Given the description of an element on the screen output the (x, y) to click on. 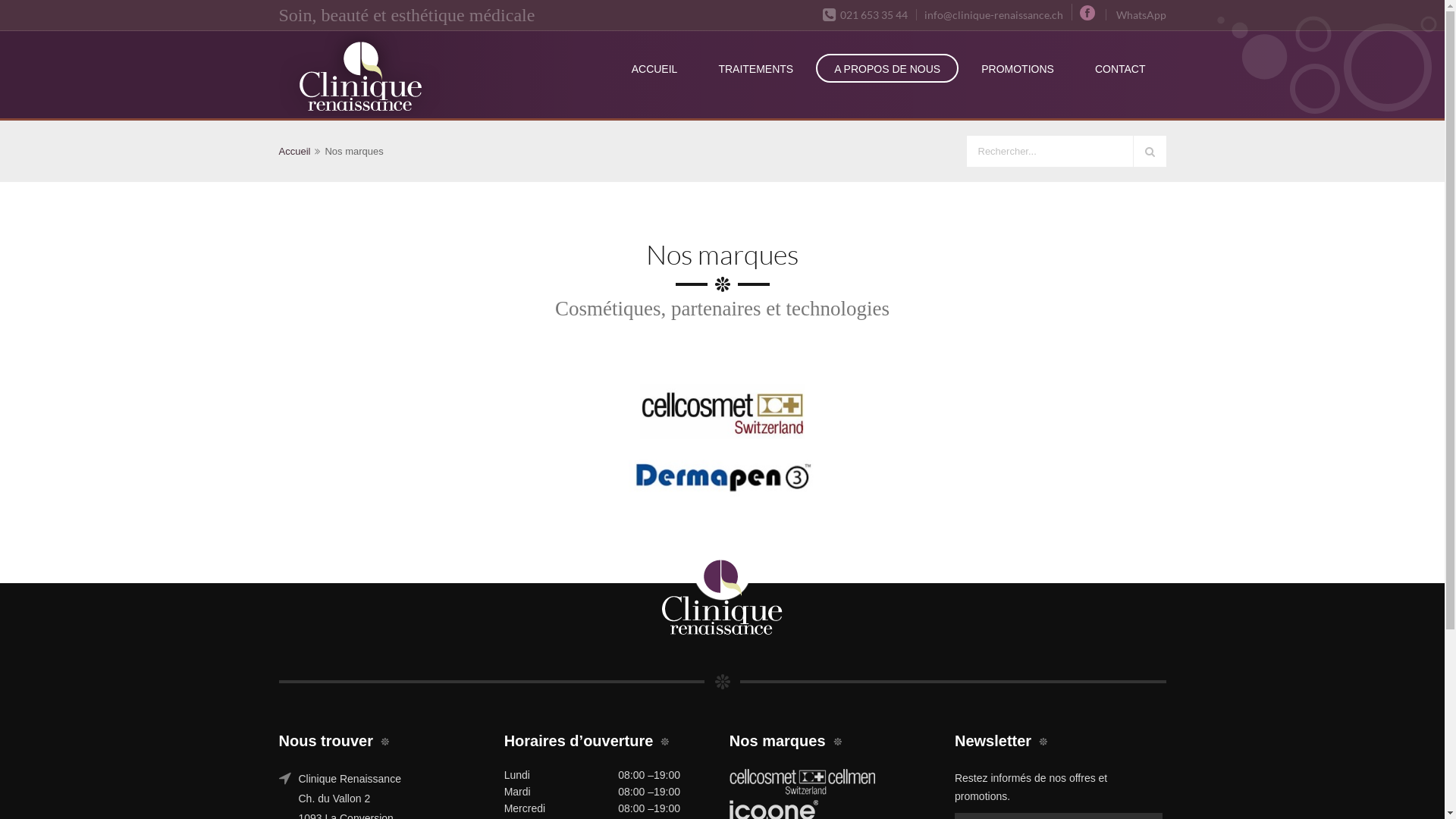
Accueil Element type: text (294, 151)
Clinique Renaissance Element type: hover (367, 74)
info@clinique-renaissance.ch Element type: text (989, 14)
Cellcosmet Cellmen Element type: hover (802, 781)
ACCUEIL Element type: text (654, 67)
WhatsApp Element type: text (1135, 14)
PROMOTIONS Element type: text (1017, 67)
TRAITEMENTS Element type: text (755, 67)
Clinique Renaissance Element type: hover (359, 73)
A PROPOS DE NOUS Element type: text (886, 67)
CONTACT Element type: text (1120, 67)
Footer Logo Element type: hover (722, 600)
